Given the description of an element on the screen output the (x, y) to click on. 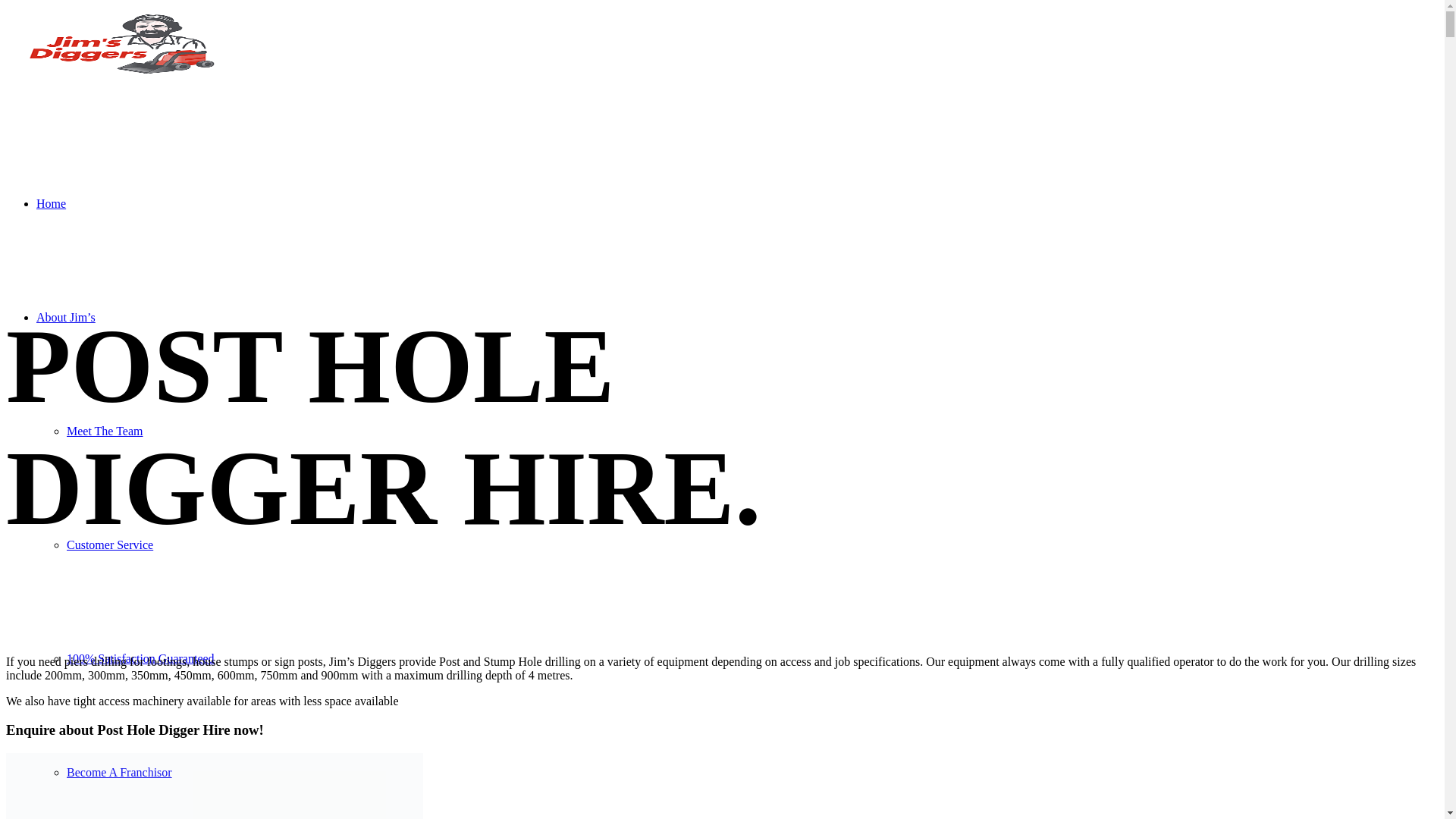
Become A Franchisor Element type: text (119, 771)
Meet The Team Element type: text (104, 430)
Customer Service Element type: text (109, 544)
100% Satisfaction Guaranteed Element type: text (140, 658)
Home Element type: text (50, 203)
